Given the description of an element on the screen output the (x, y) to click on. 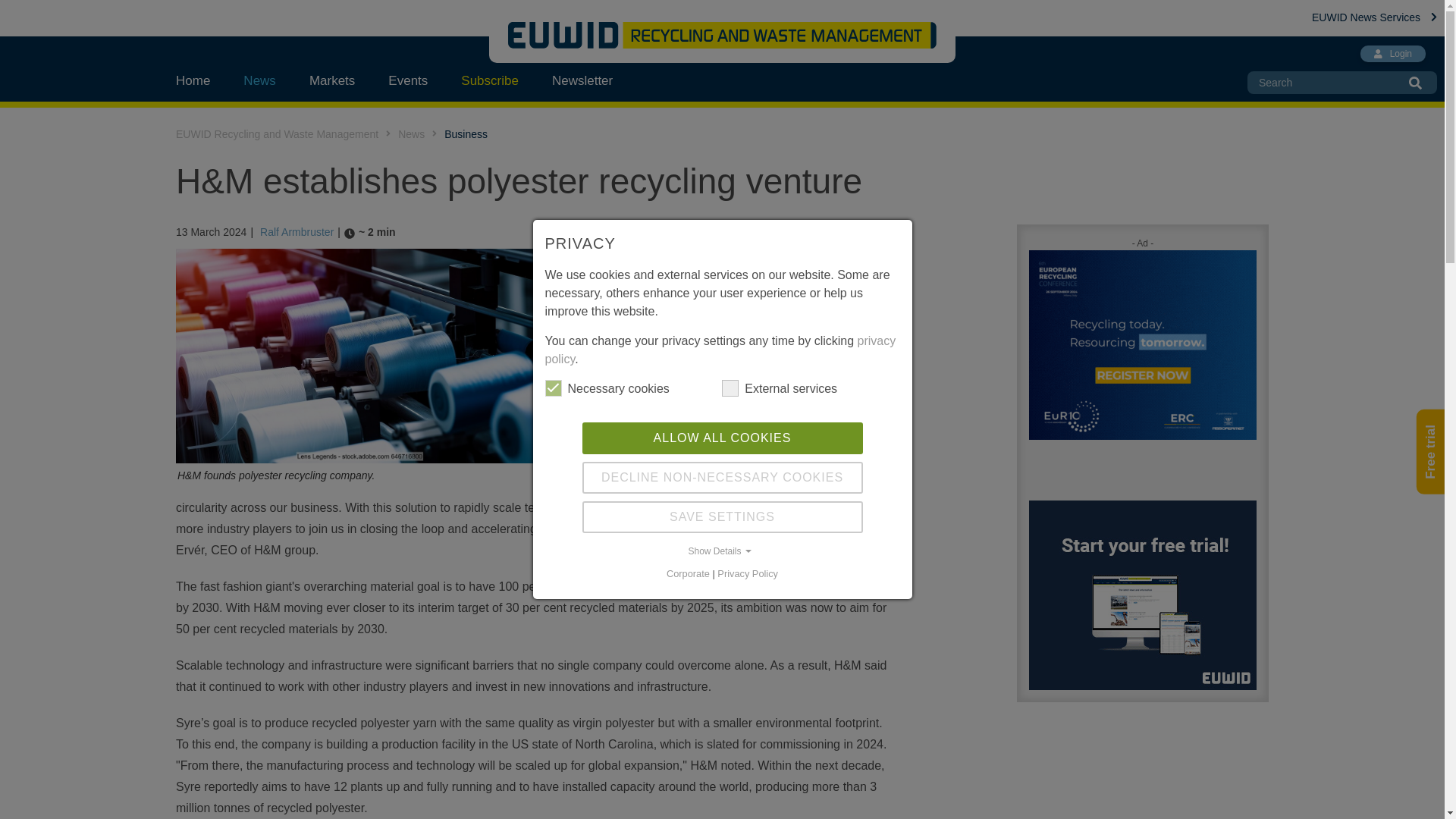
Subscribe (489, 80)
Markets (331, 80)
Ralf Armbruster (296, 232)
Business (465, 133)
EUWID News Services (1374, 17)
Newsletter (581, 80)
116 Sekunden (369, 232)
News (411, 133)
News (259, 80)
Home (201, 80)
Events (407, 80)
Login (1392, 53)
EUWID Recycling and Waste Management (277, 133)
